Given the description of an element on the screen output the (x, y) to click on. 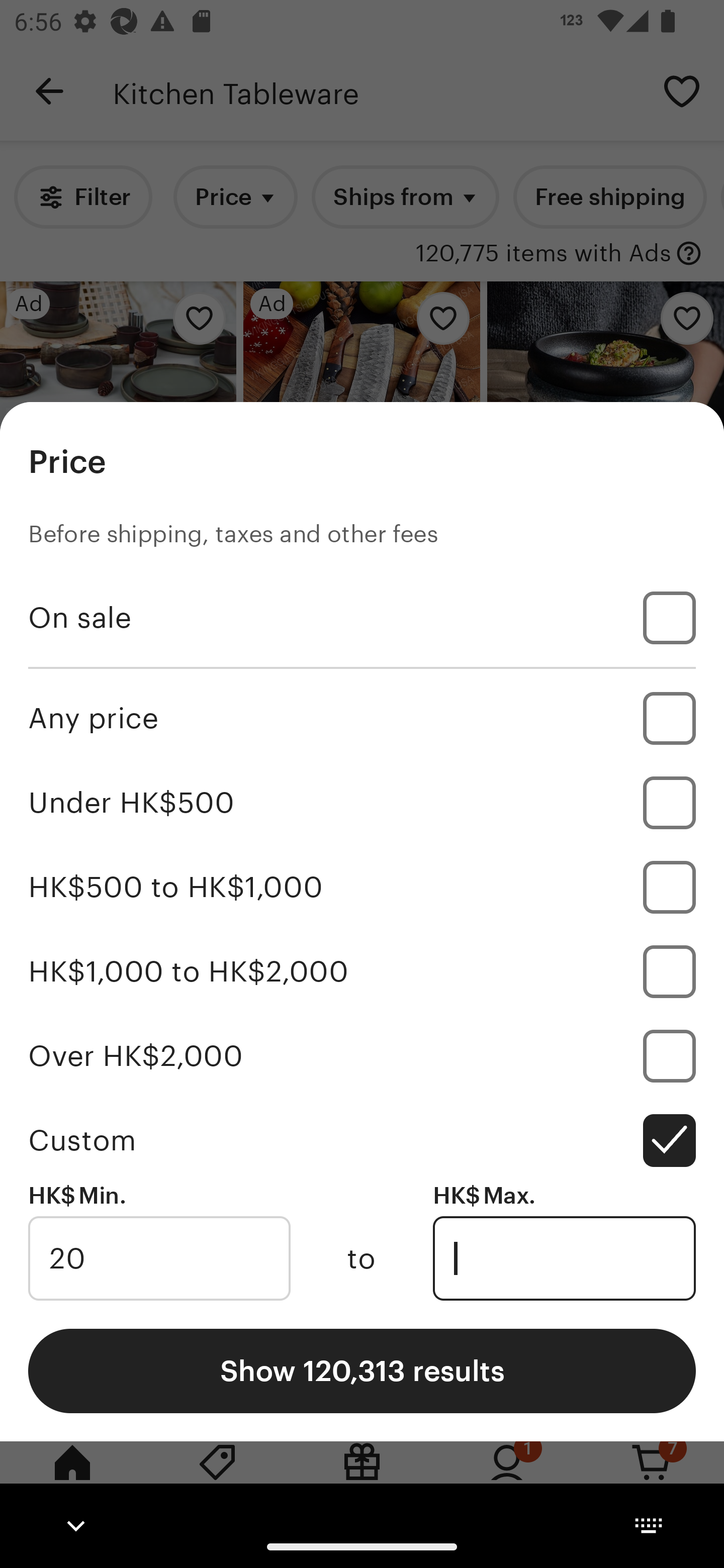
On sale (362, 617)
Any price (362, 717)
Under HK$500 (362, 802)
HK$500 to HK$1,000 (362, 887)
HK$1,000 to HK$2,000 (362, 970)
Over HK$2,000 (362, 1054)
Custom (362, 1139)
20 (159, 1257)
Show 120,313 results (361, 1370)
